Given the description of an element on the screen output the (x, y) to click on. 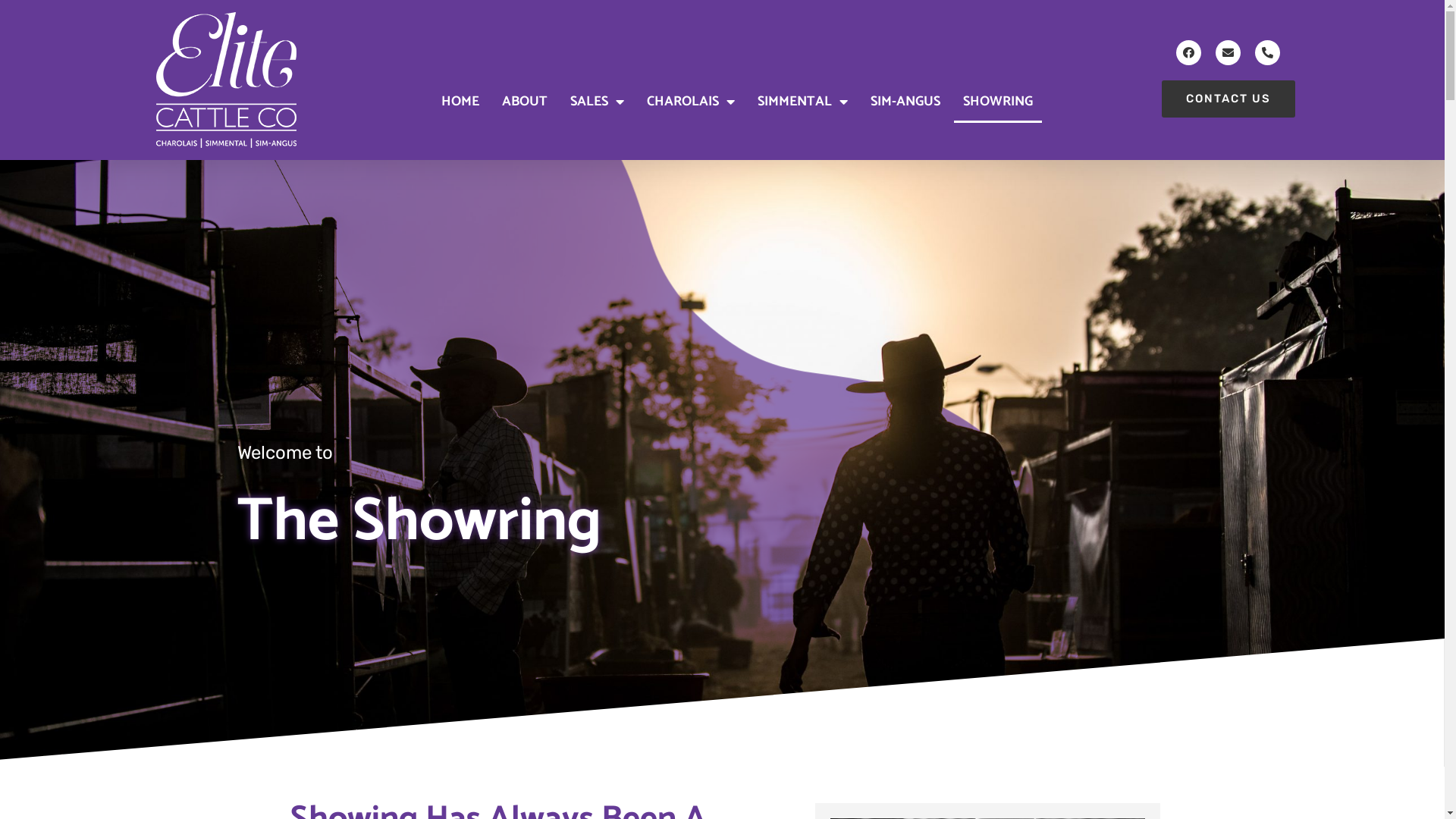
CONTACT US Element type: text (1228, 98)
ABOUT Element type: text (524, 101)
SIM-ANGUS Element type: text (905, 101)
SIMMENTAL Element type: text (802, 101)
CHAROLAIS Element type: text (690, 101)
HOME Element type: text (460, 101)
SHOWRING Element type: text (997, 101)
SALES Element type: text (597, 101)
